Given the description of an element on the screen output the (x, y) to click on. 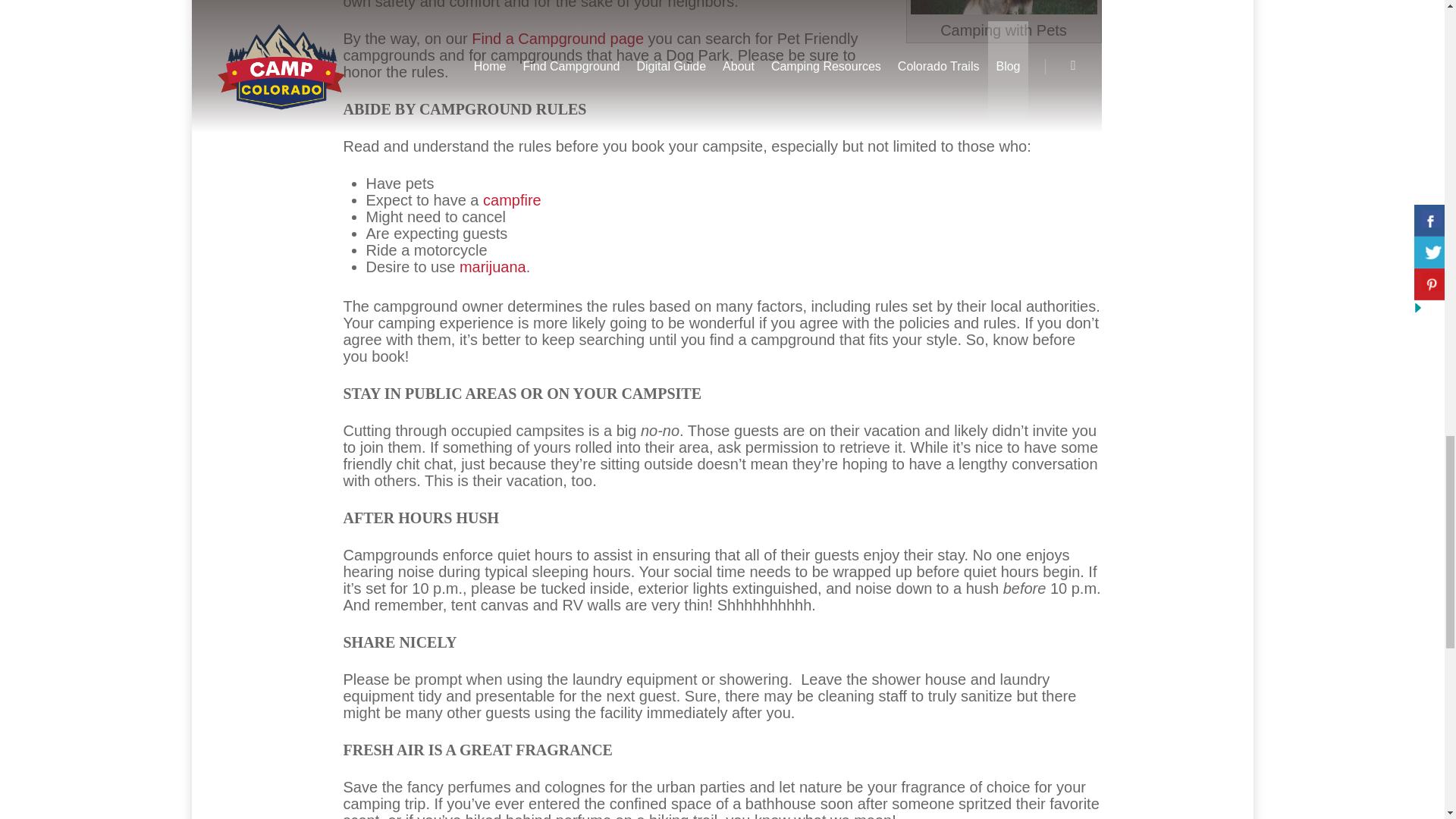
marijuana (492, 266)
campfire (512, 199)
Find a Campground page (557, 38)
